Given the description of an element on the screen output the (x, y) to click on. 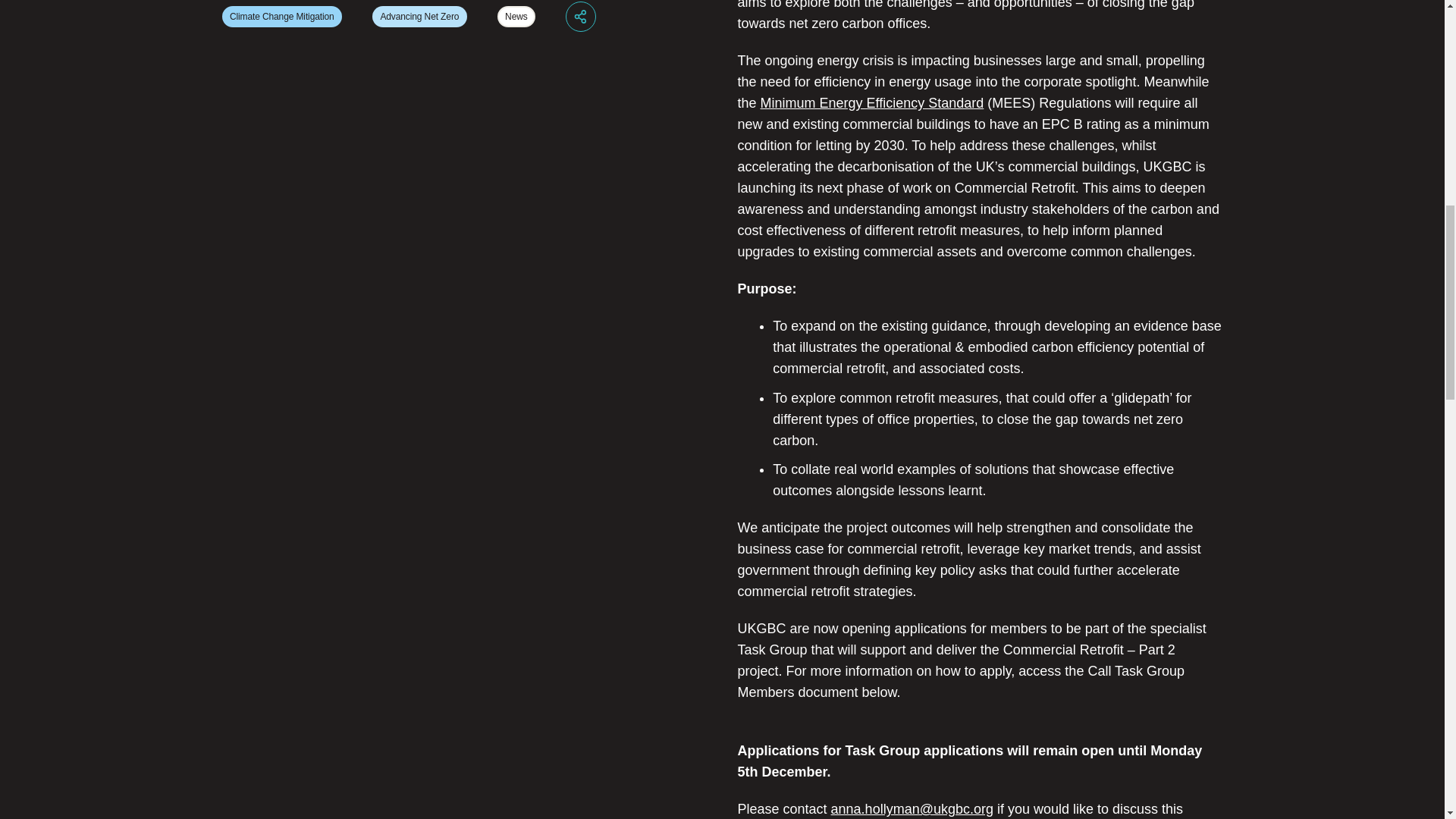
Minimum Energy Efficiency Standard (872, 102)
News (516, 16)
Share (580, 16)
Climate Change Mitigation (281, 16)
Advancing Net Zero (419, 16)
